Given the description of an element on the screen output the (x, y) to click on. 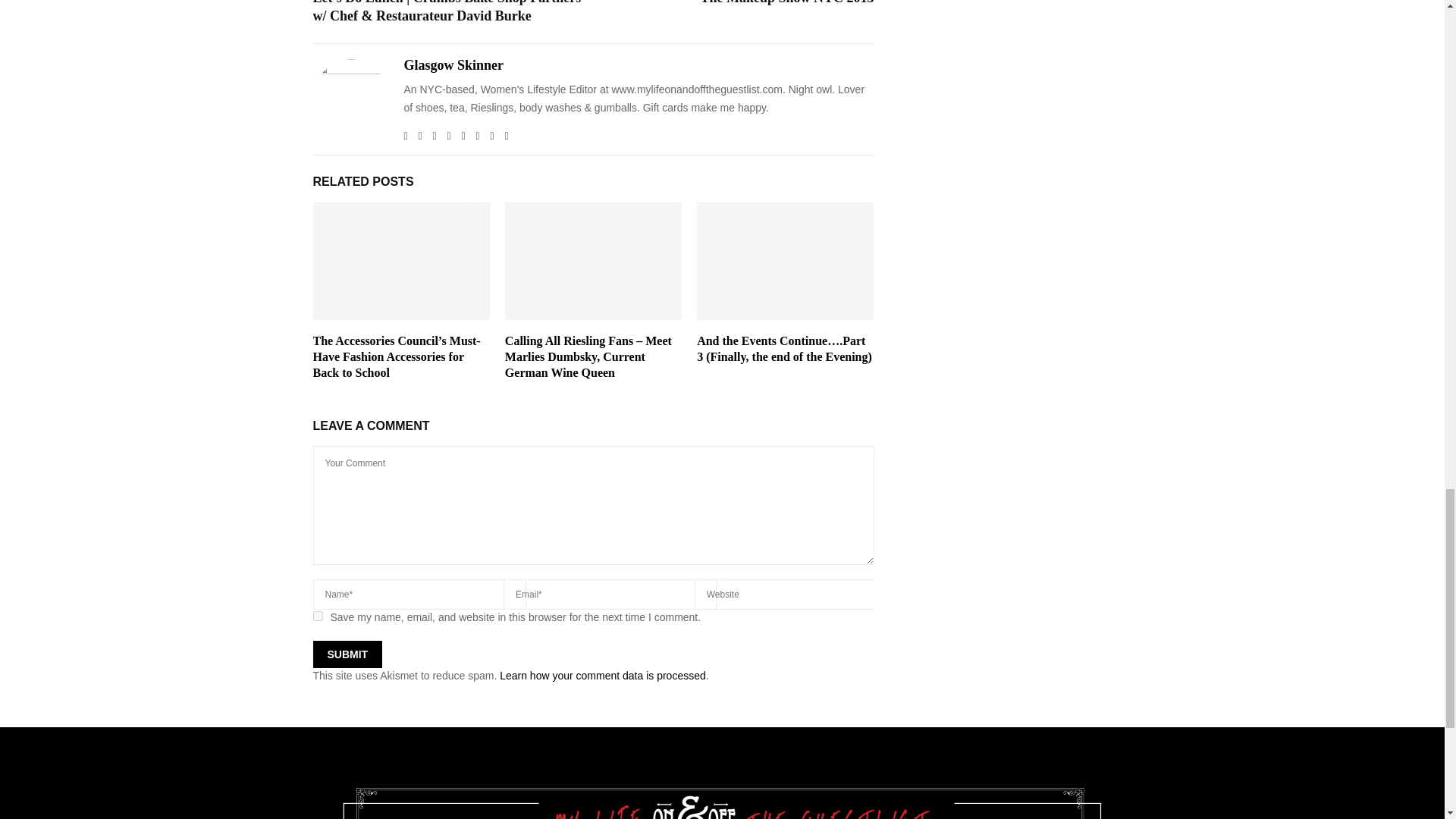
yes (317, 615)
Submit (347, 654)
